Given the description of an element on the screen output the (x, y) to click on. 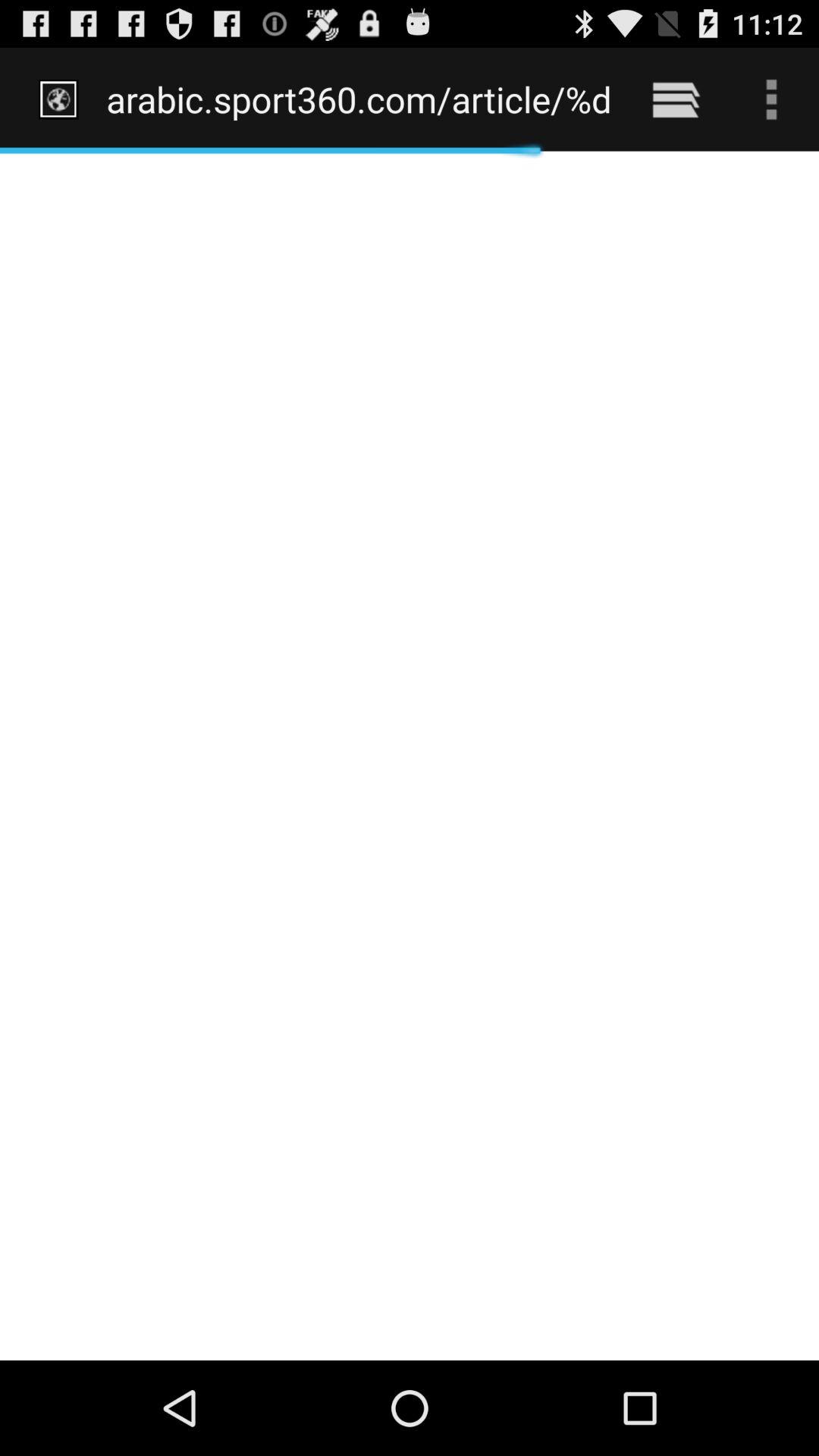
tap the icon below the arabic sport360 com item (409, 755)
